Given the description of an element on the screen output the (x, y) to click on. 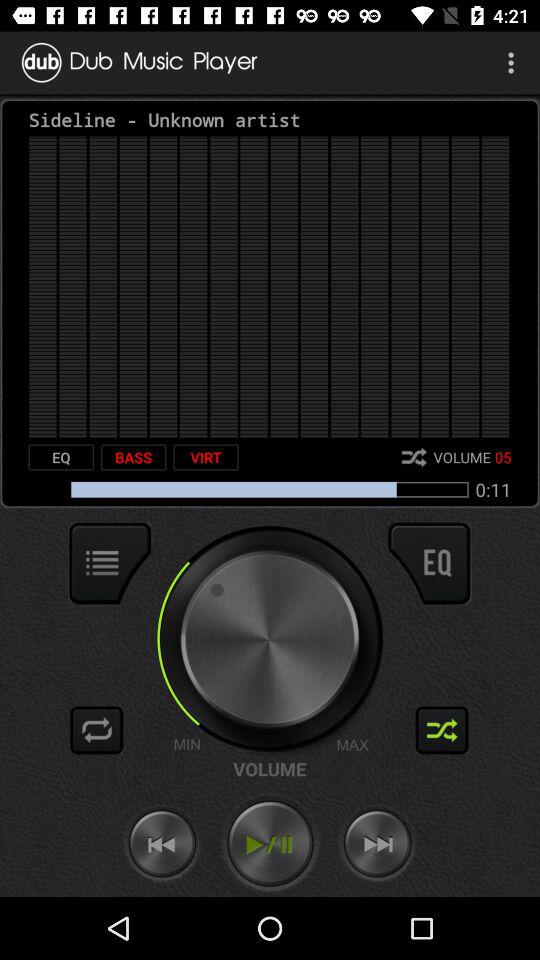
activate shuffle (442, 730)
